Given the description of an element on the screen output the (x, y) to click on. 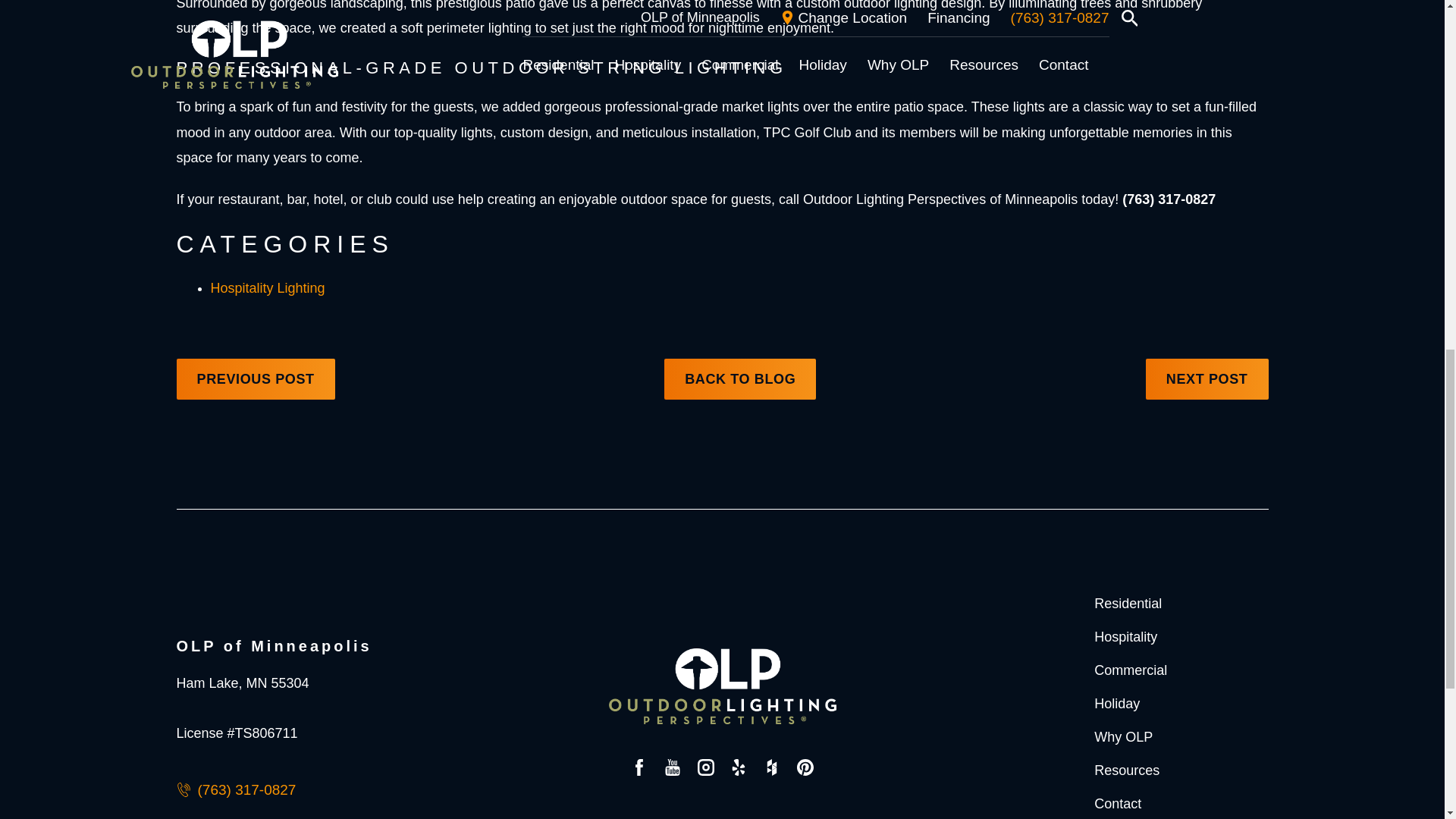
Outdoor Lighting Perspectives (721, 685)
